Given the description of an element on the screen output the (x, y) to click on. 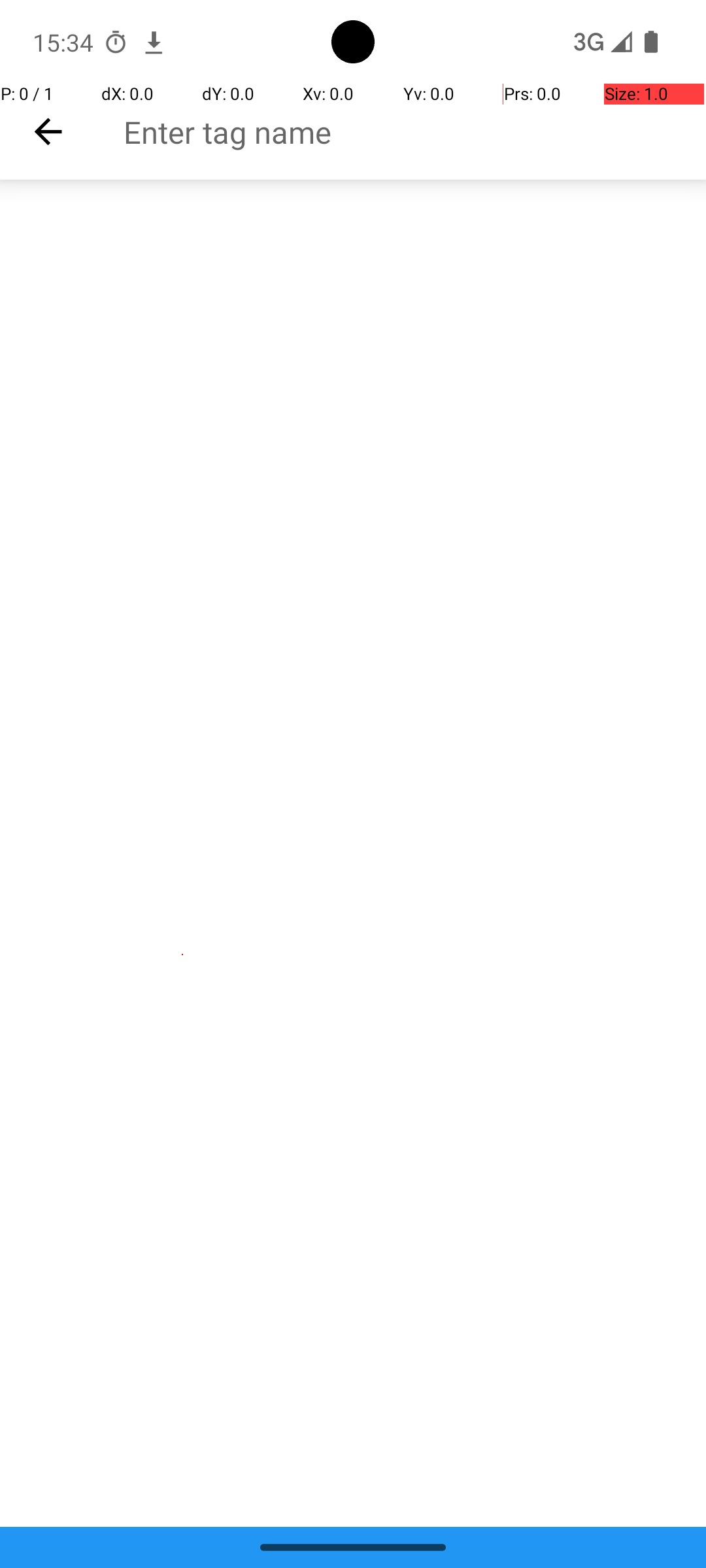
Enter tag name Element type: android.widget.EditText (414, 131)
